Given the description of an element on the screen output the (x, y) to click on. 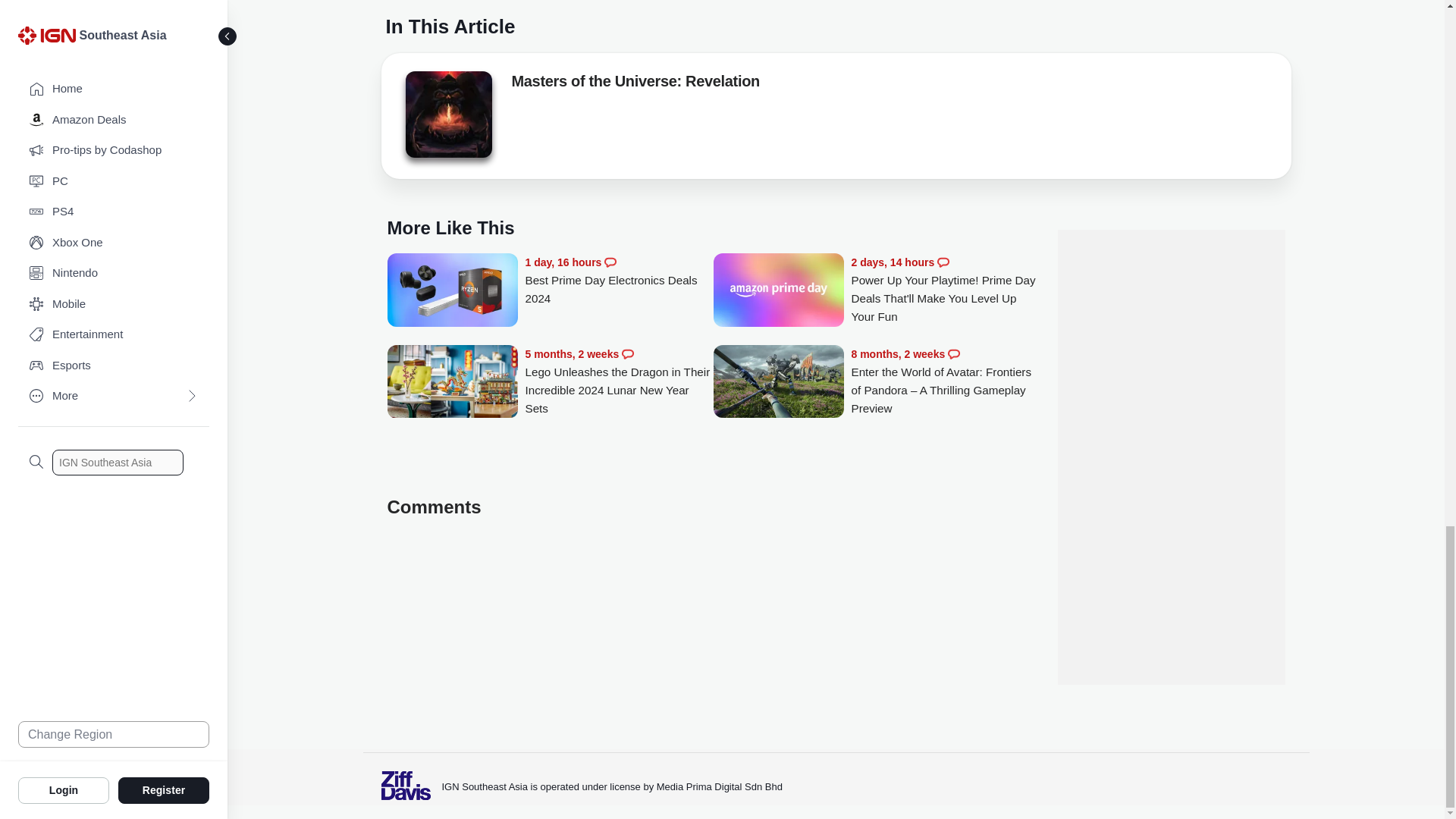
Comments (609, 262)
Comments (627, 354)
Best Prime Day Electronics Deals 2024 (451, 291)
Comments (943, 262)
Masters of the Universe: Revelation (634, 83)
Masters of the Universe: Revelation (448, 119)
Masters of the Universe: Revelation (448, 114)
Best Prime Day Electronics Deals 2024 (618, 280)
